Given the description of an element on the screen output the (x, y) to click on. 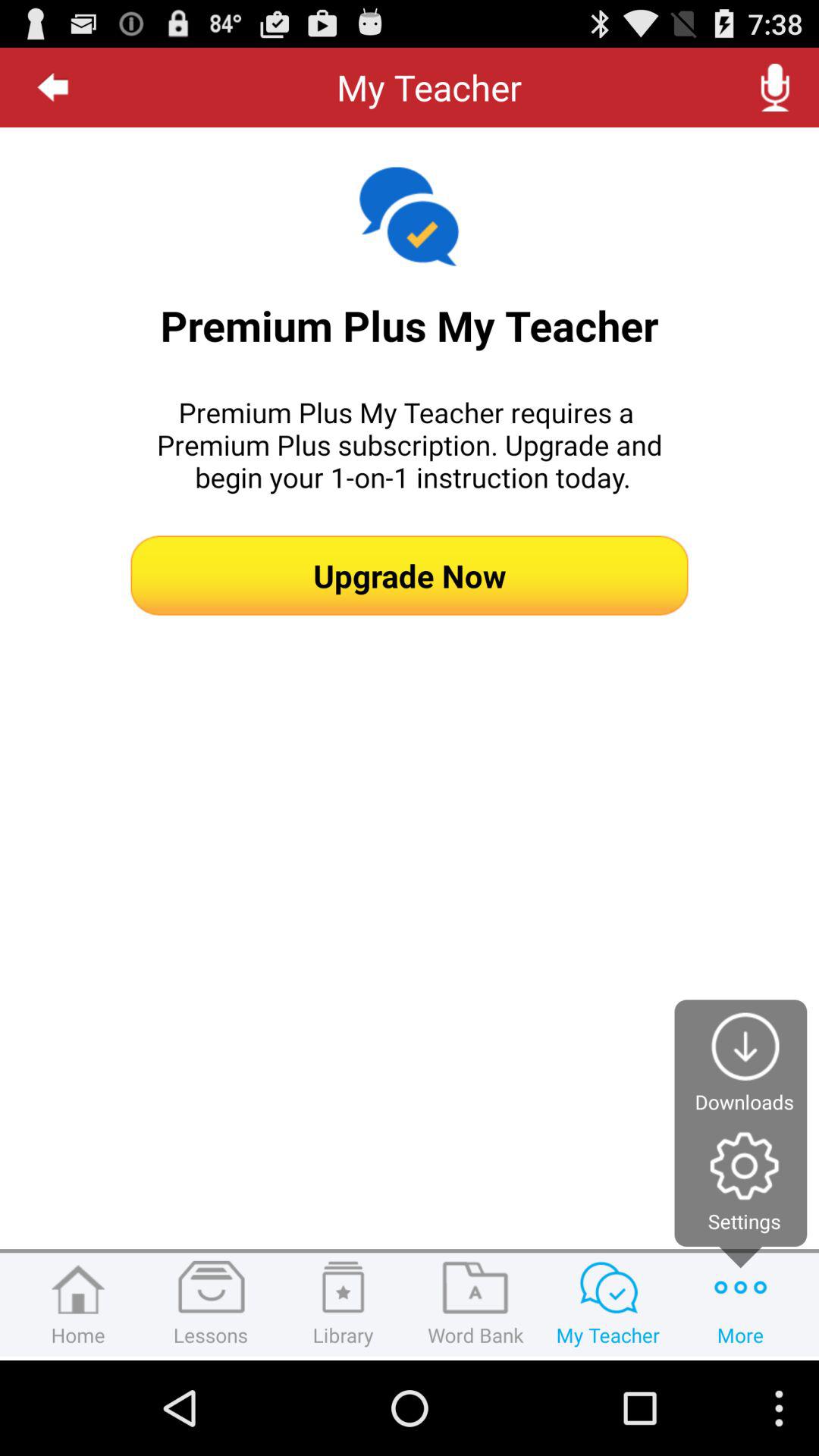
tap icon at the top right corner (775, 87)
